Given the description of an element on the screen output the (x, y) to click on. 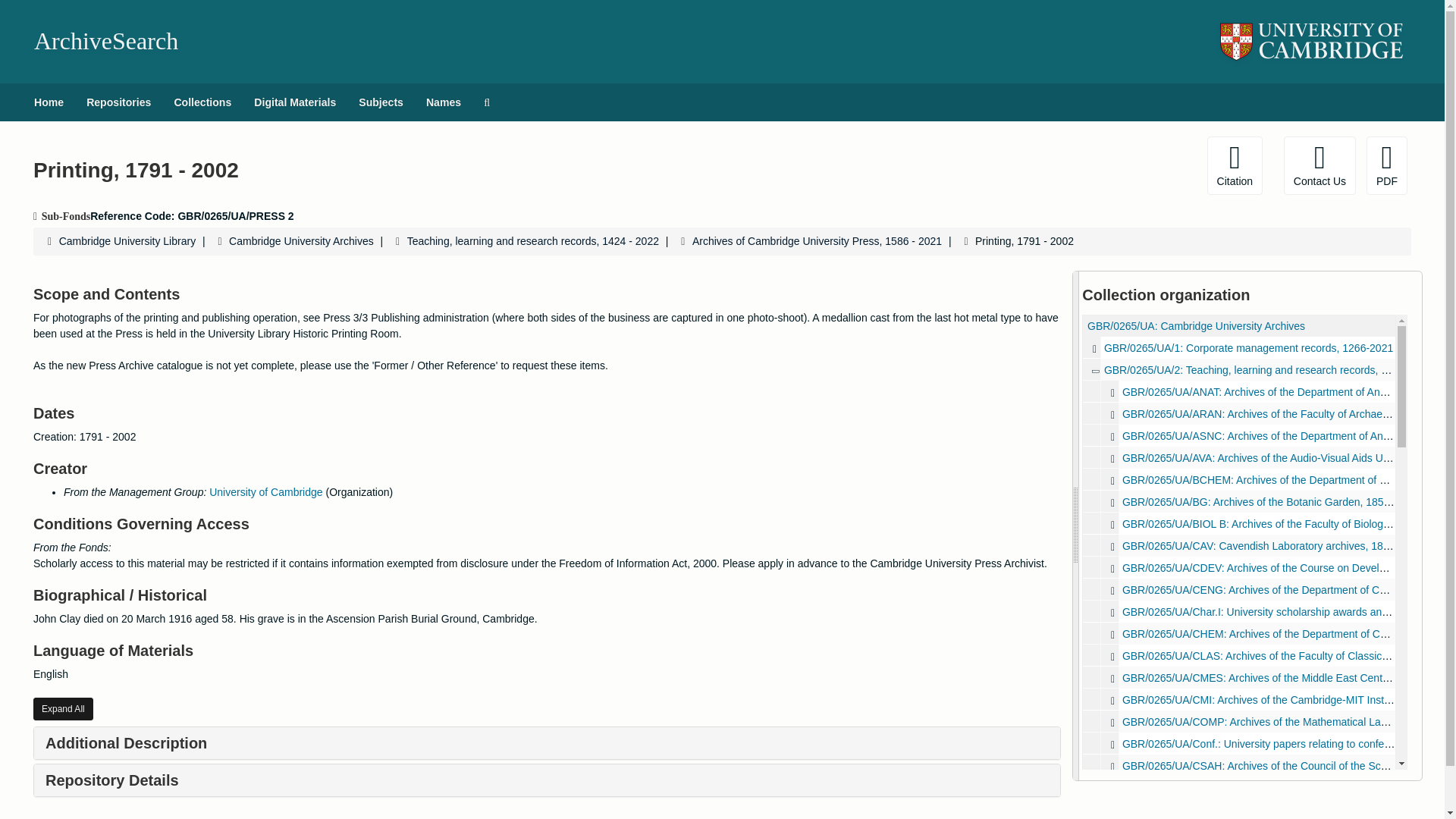
Home (49, 102)
Archives of the Department of Anatomy (1238, 391)
Search The Archives (485, 102)
University of Cambridge (265, 491)
Subjects (380, 102)
Archives of the Department of Anglo-Saxon, Norse and Celtic (1112, 436)
Cavendish Laboratory archives (1238, 545)
Collections (202, 102)
Names (442, 102)
Citation (1234, 165)
Corporate management records (1093, 347)
Archives of the Faculty of Archaeology and Anthropology (1112, 413)
Search The Archives (485, 102)
ArchiveSearch (105, 40)
